Given the description of an element on the screen output the (x, y) to click on. 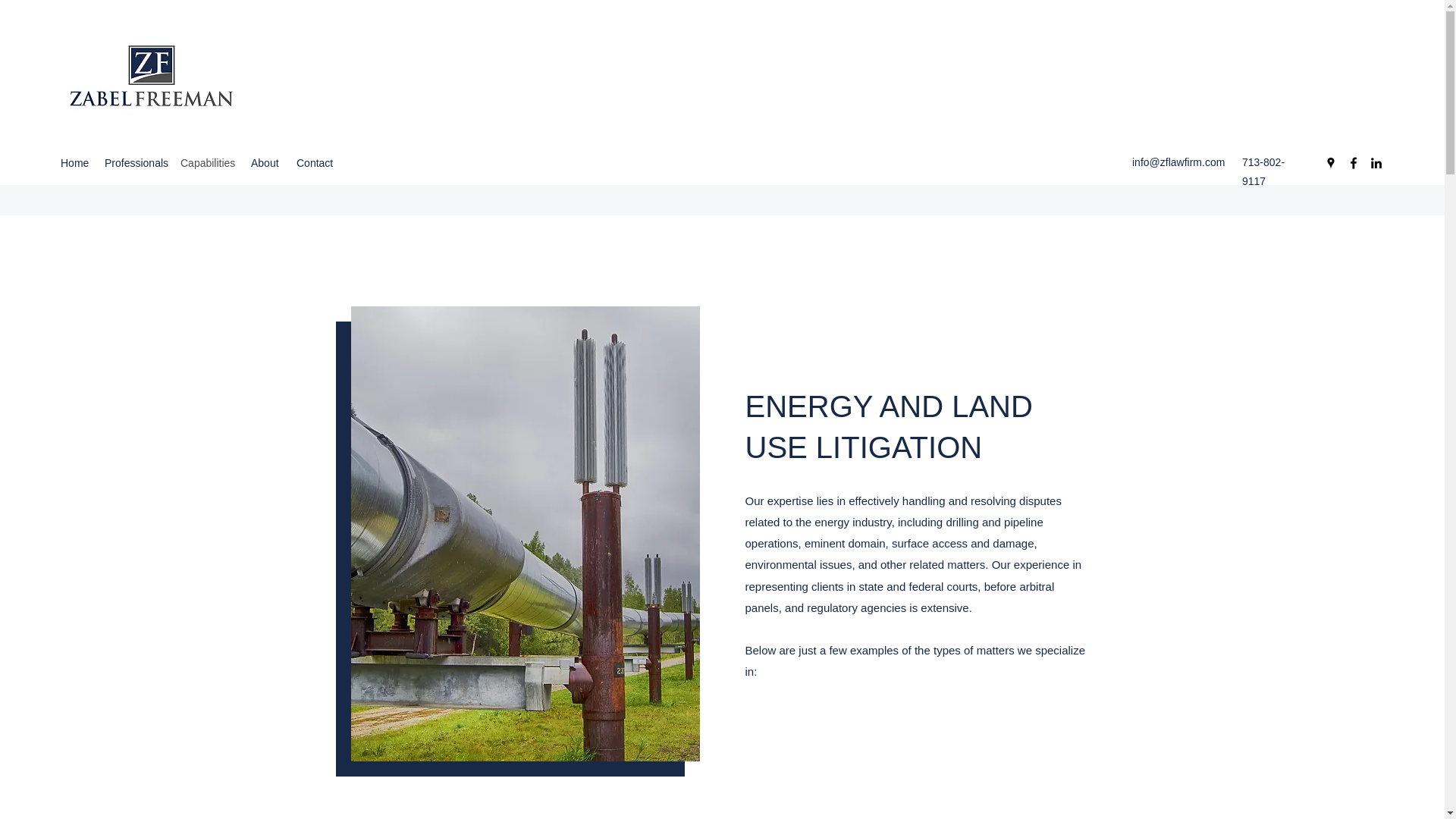
Contact (315, 162)
Professionals (135, 162)
Home (74, 162)
Capabilities (208, 162)
About (265, 162)
